Given the description of an element on the screen output the (x, y) to click on. 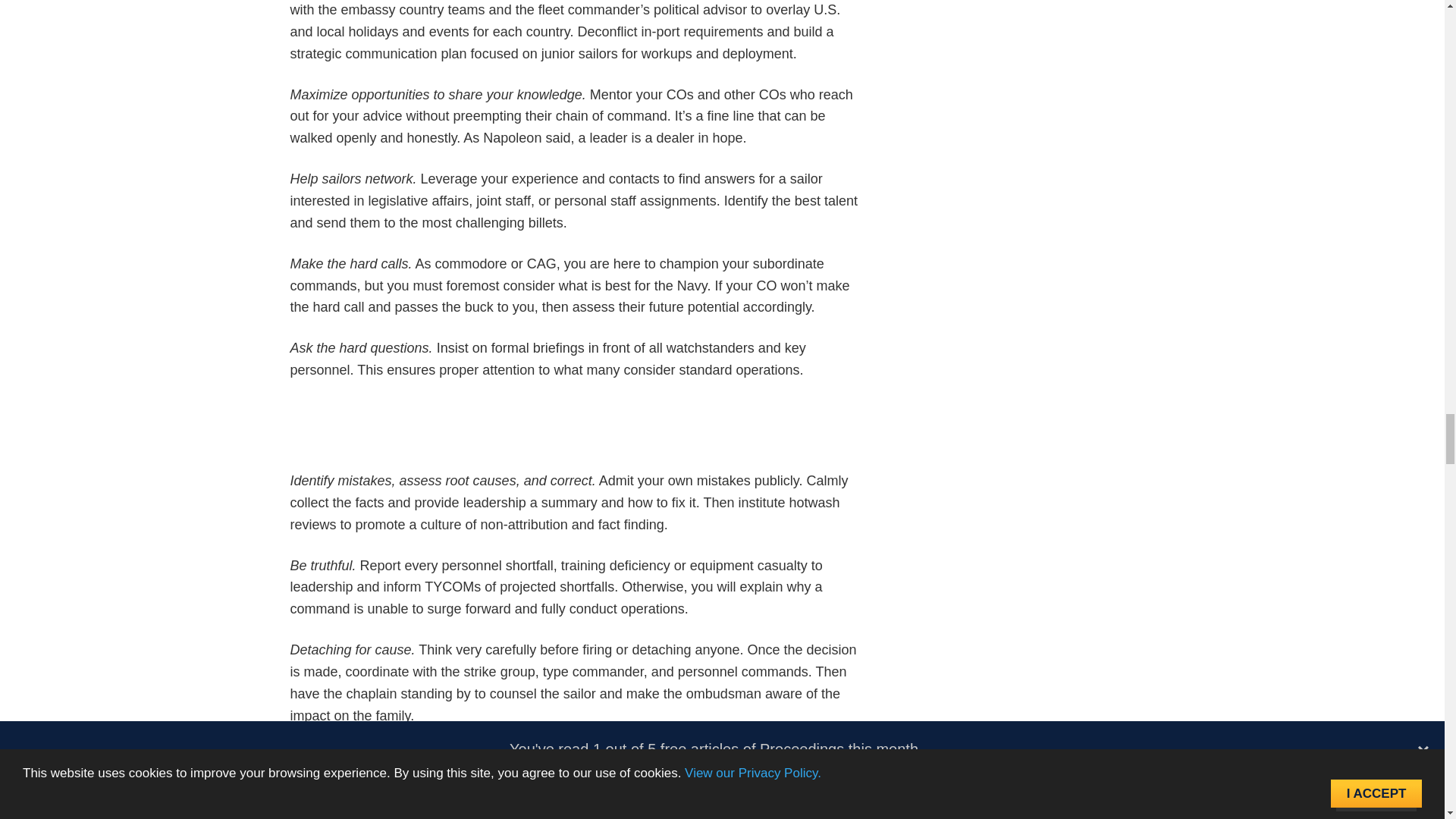
3rd party ad content (574, 434)
